Given the description of an element on the screen output the (x, y) to click on. 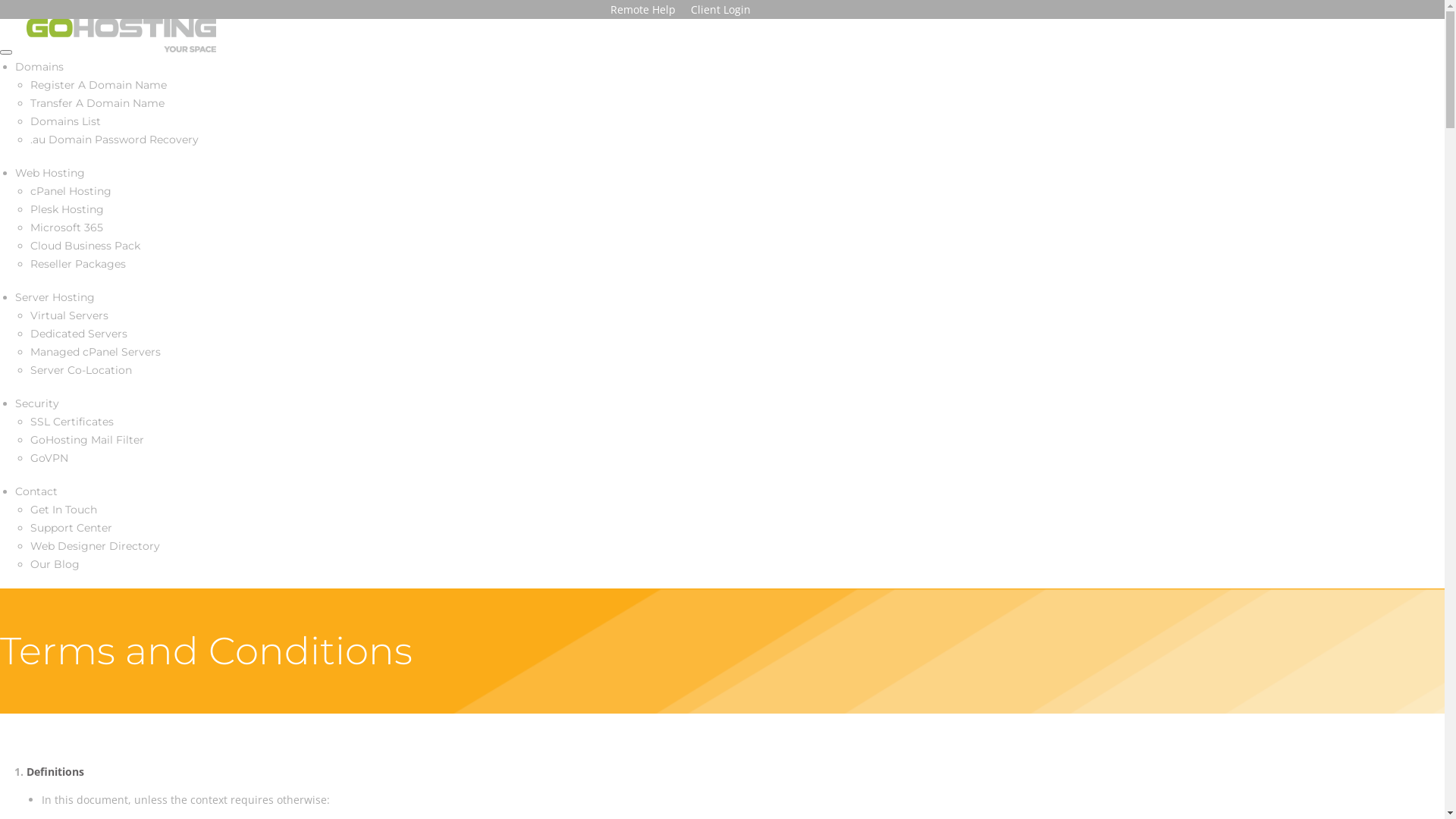
Cloud Business Pack Element type: text (85, 245)
Transfer A Domain Name Element type: text (97, 102)
Virtual Servers Element type: text (69, 315)
Managed cPanel Servers Element type: text (95, 351)
Toggle navigation Element type: text (6, 52)
Get In Touch Element type: text (63, 509)
Reseller Packages Element type: text (77, 263)
Remote Help Element type: text (642, 9)
Server Hosting Element type: text (54, 297)
Server Co-Location Element type: text (80, 369)
Our Blog Element type: text (54, 564)
Web Designer Directory Element type: text (95, 545)
Client Login Element type: text (720, 9)
Register A Domain Name Element type: text (98, 84)
Support Center Element type: text (71, 527)
Web Hosting Element type: text (49, 172)
Microsoft 365 Element type: text (66, 227)
GoVPN Element type: text (49, 457)
Dedicated Servers Element type: text (78, 333)
Security Element type: text (37, 403)
cPanel Hosting Element type: text (70, 190)
Domains Element type: text (39, 66)
SSL Certificates Element type: text (71, 421)
Domains List Element type: text (65, 121)
Contact Element type: text (36, 491)
Plesk Hosting Element type: text (66, 209)
.au Domain Password Recovery Element type: text (114, 139)
GoHosting Mail Filter Element type: text (87, 439)
